Given the description of an element on the screen output the (x, y) to click on. 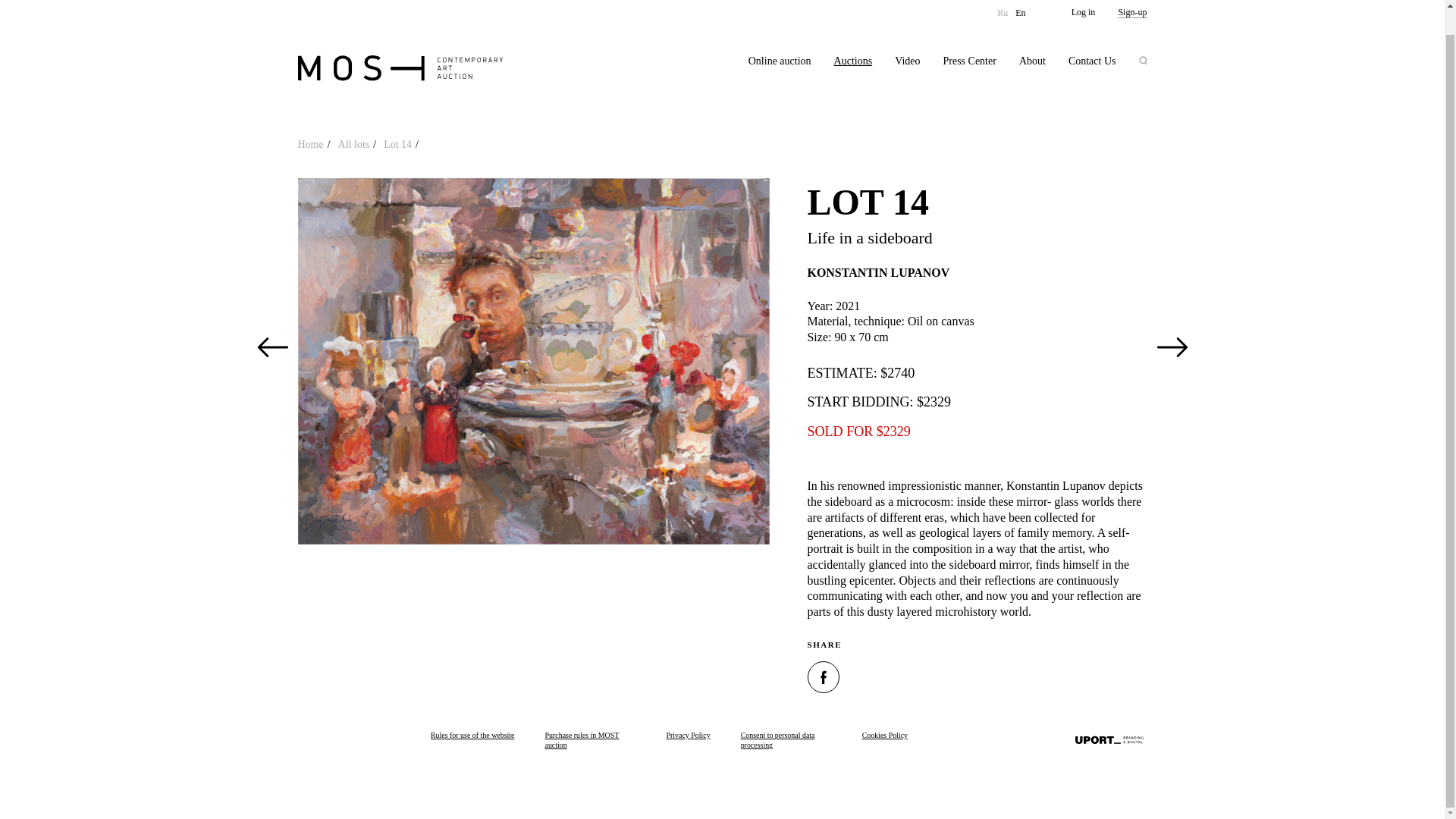
Consent to personal data processing (786, 741)
Online auction (779, 36)
SHARE ON FACEBOOK (822, 676)
Purchase rules in MOST auction (589, 741)
Next (1171, 347)
Home (313, 144)
Auctions (853, 36)
All lots (357, 144)
Contact Us (1092, 36)
Lot 14 (401, 144)
Privacy Policy (687, 741)
Video (907, 36)
Ruport (1108, 740)
Previous (271, 347)
About (1032, 36)
